Given the description of an element on the screen output the (x, y) to click on. 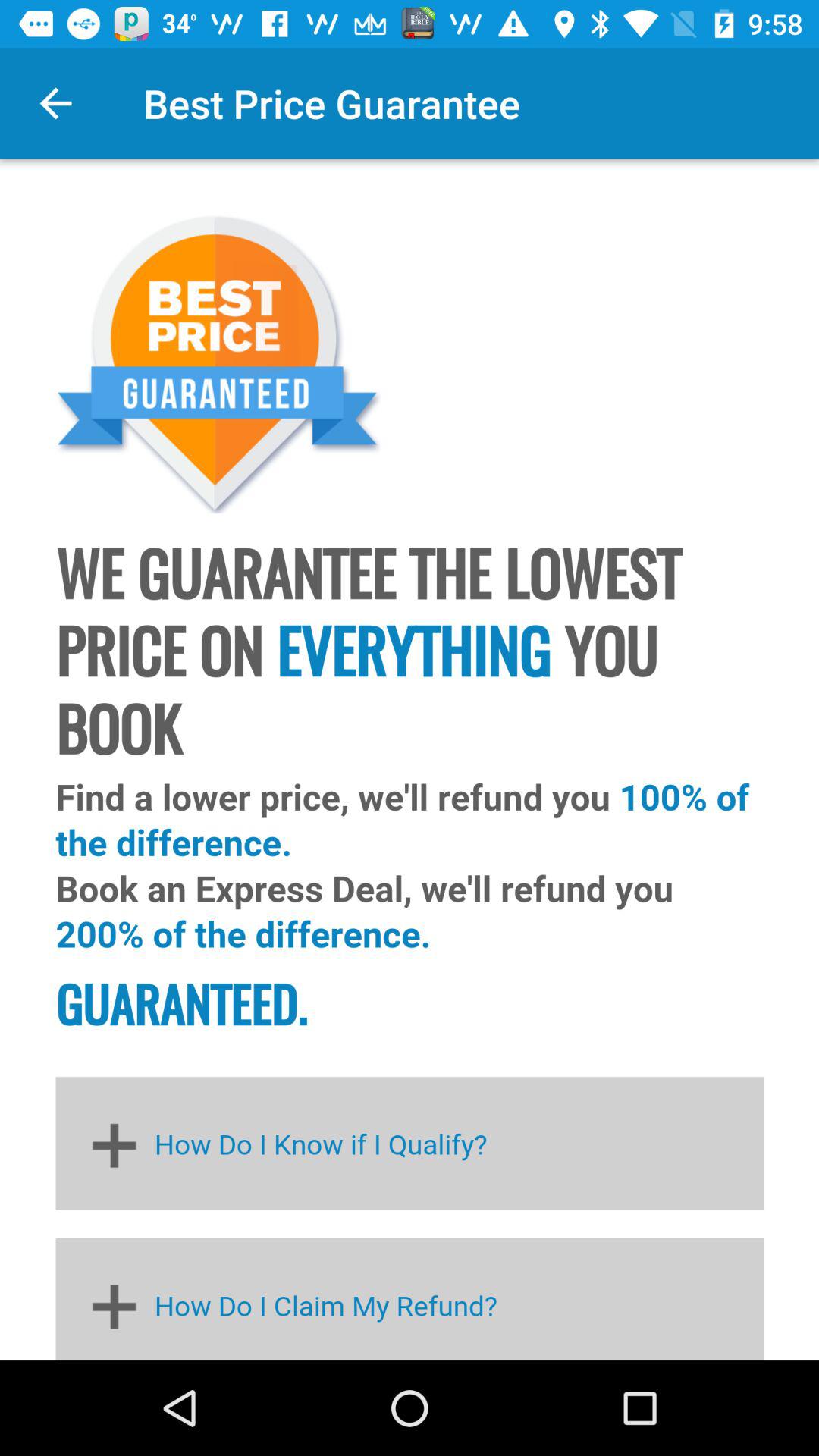
description (409, 759)
